Given the description of an element on the screen output the (x, y) to click on. 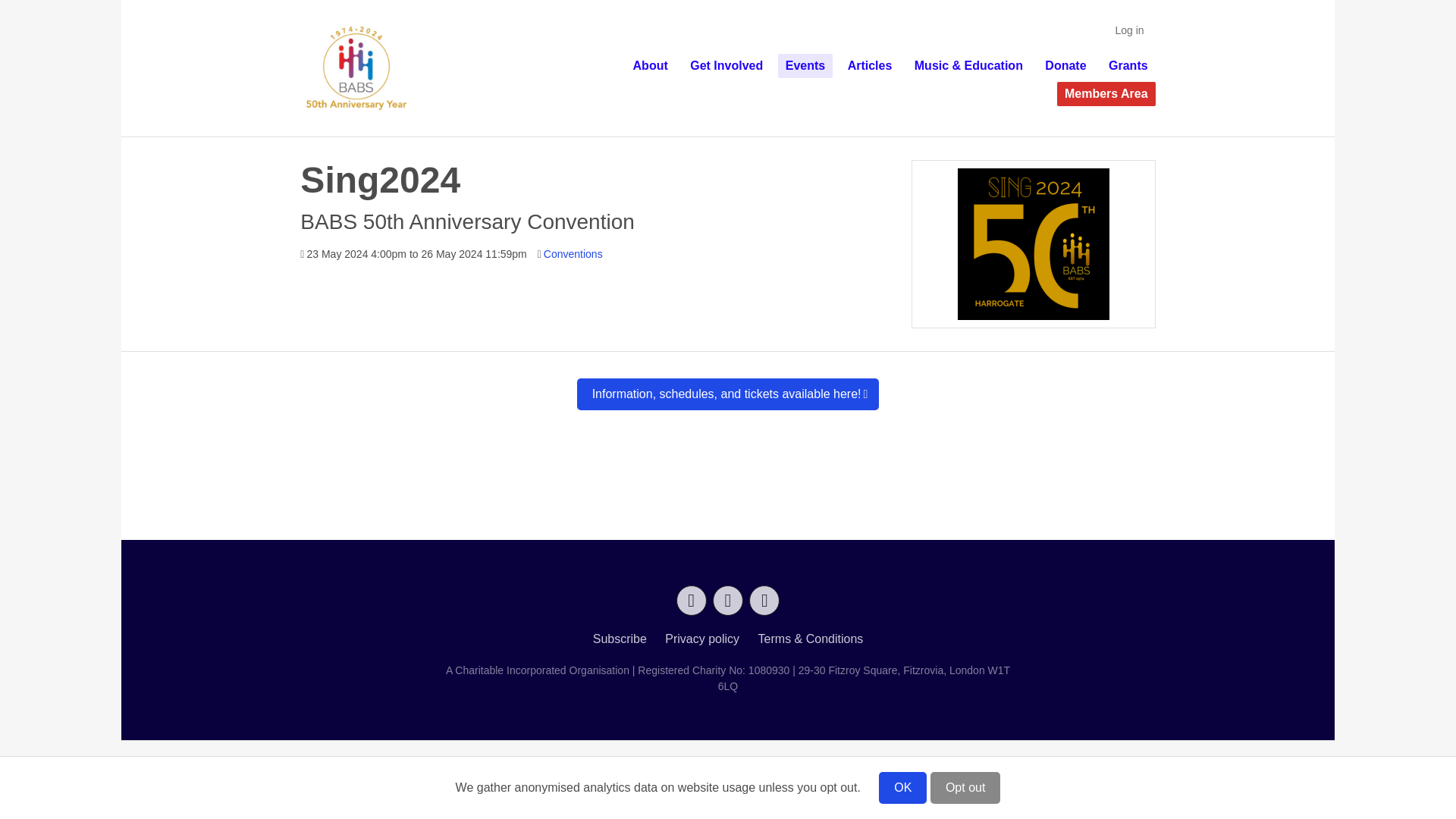
Articles (869, 65)
Privacy policy (702, 638)
Get Involved (726, 65)
Donate (1064, 65)
White Fuse (776, 770)
Log in (1128, 30)
Events (804, 65)
Grants (1128, 65)
Members Area (1106, 93)
Information, schedules, and tickets available here! (727, 394)
